Given the description of an element on the screen output the (x, y) to click on. 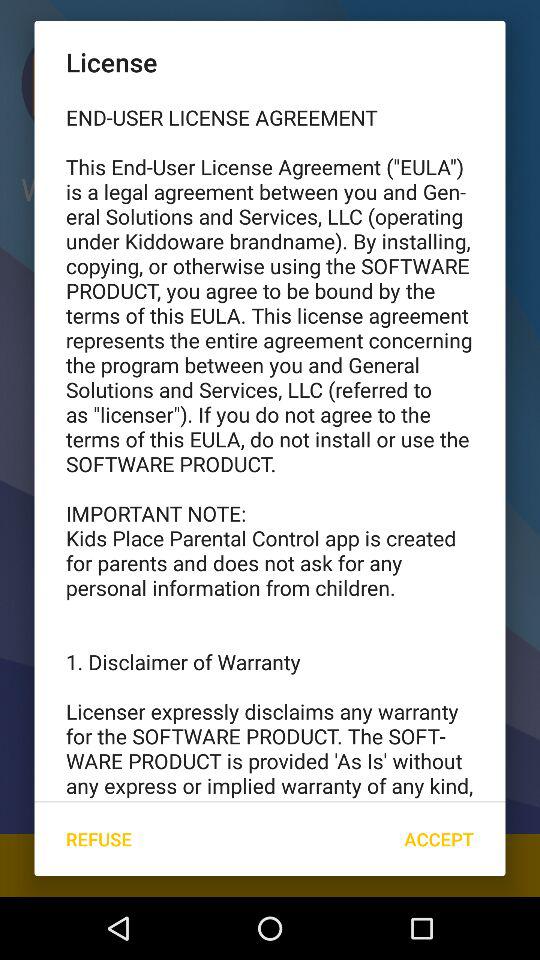
swipe to accept (438, 838)
